Given the description of an element on the screen output the (x, y) to click on. 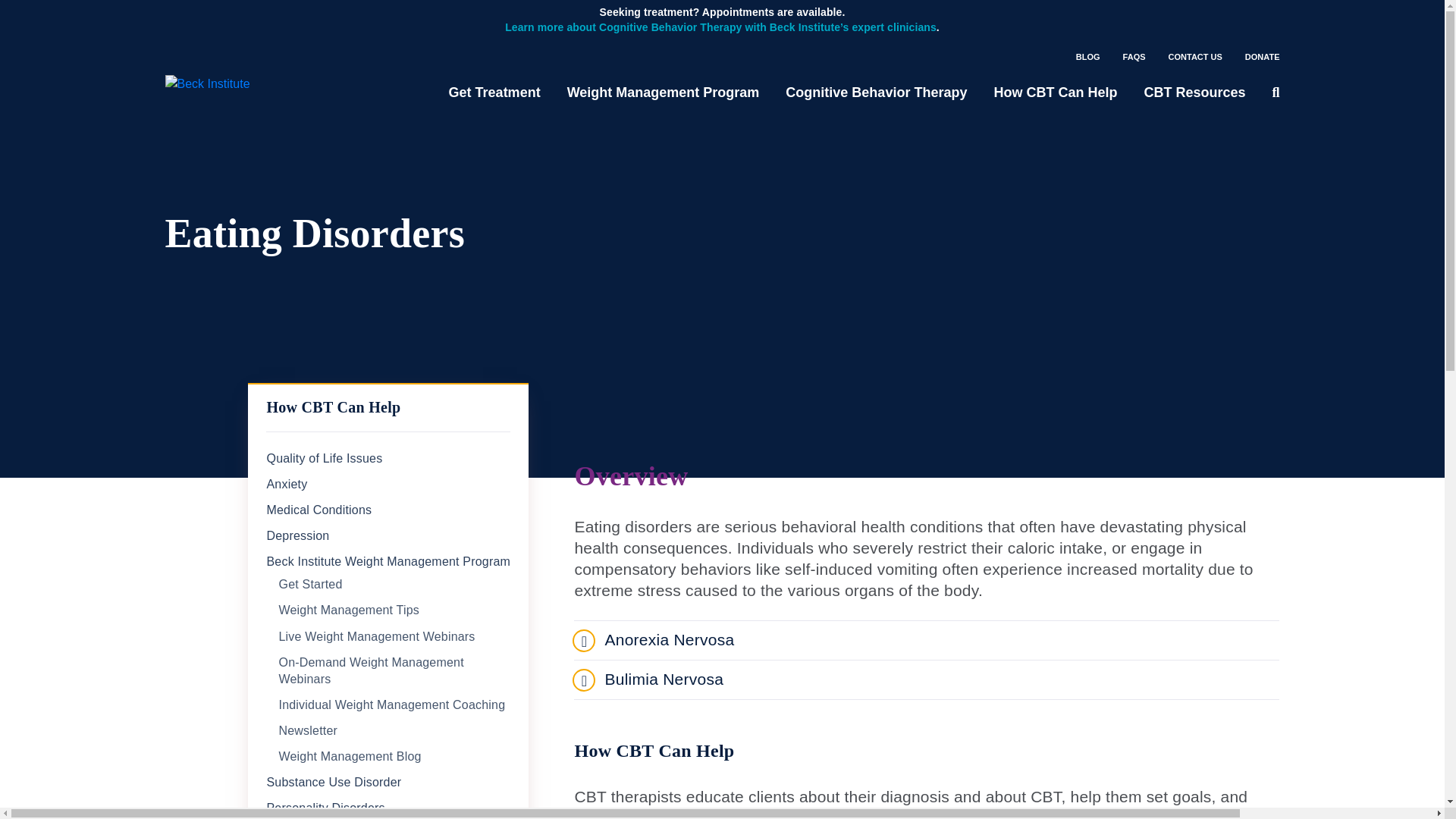
Cognitive Behavior Therapy (876, 92)
CONTACT US (1196, 56)
Get Treatment (494, 92)
CBT Resources (1193, 92)
Weight Management Program (663, 92)
FAQS (1133, 56)
How CBT Can Help (1054, 92)
BLOG (1087, 56)
DONATE (1261, 56)
